Given the description of an element on the screen output the (x, y) to click on. 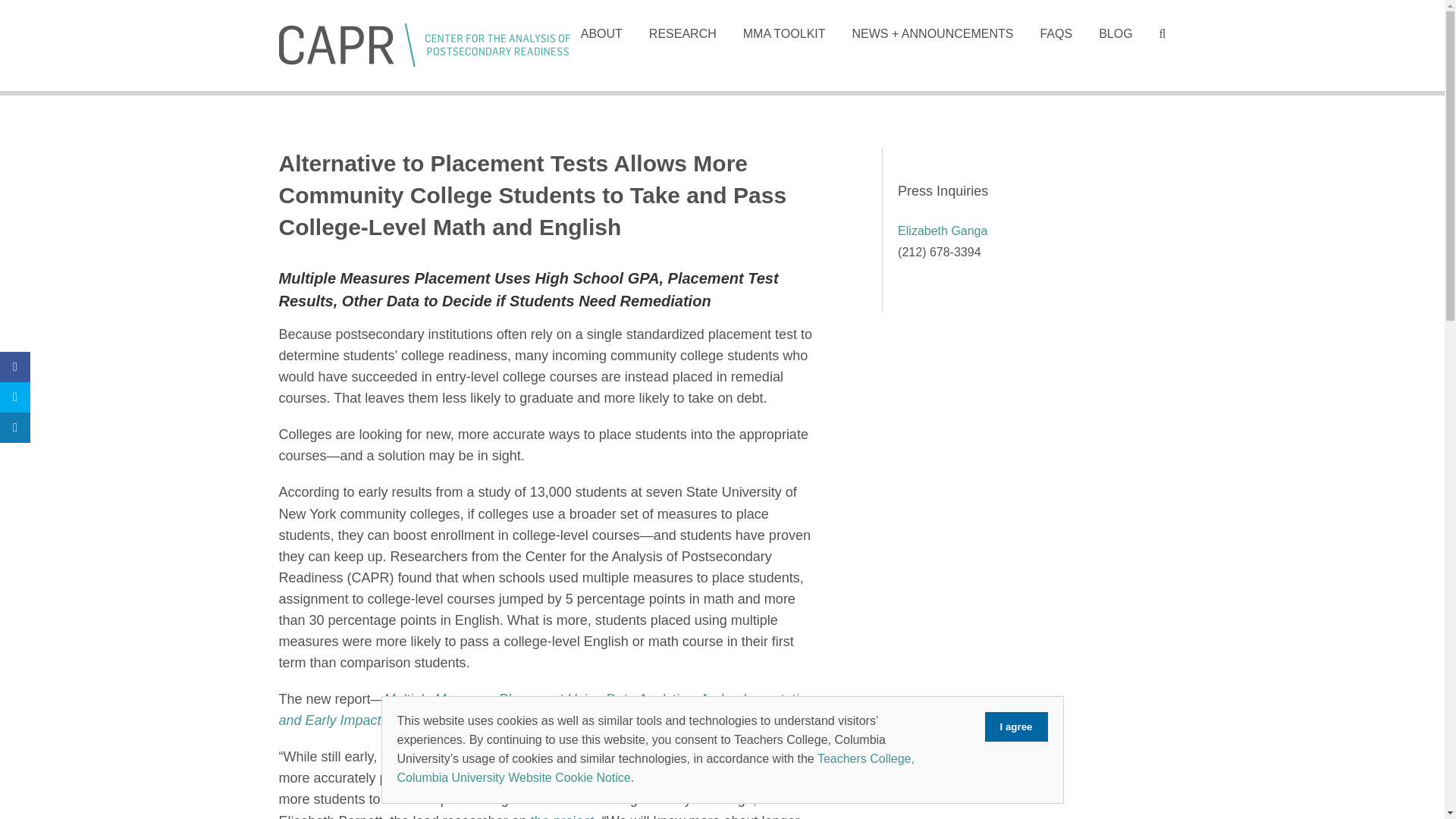
Teachers College, Columbia University Website Cookie Notice (655, 767)
I agree (1016, 726)
MMA TOOLKIT (783, 32)
RESEARCH (682, 32)
